Given the description of an element on the screen output the (x, y) to click on. 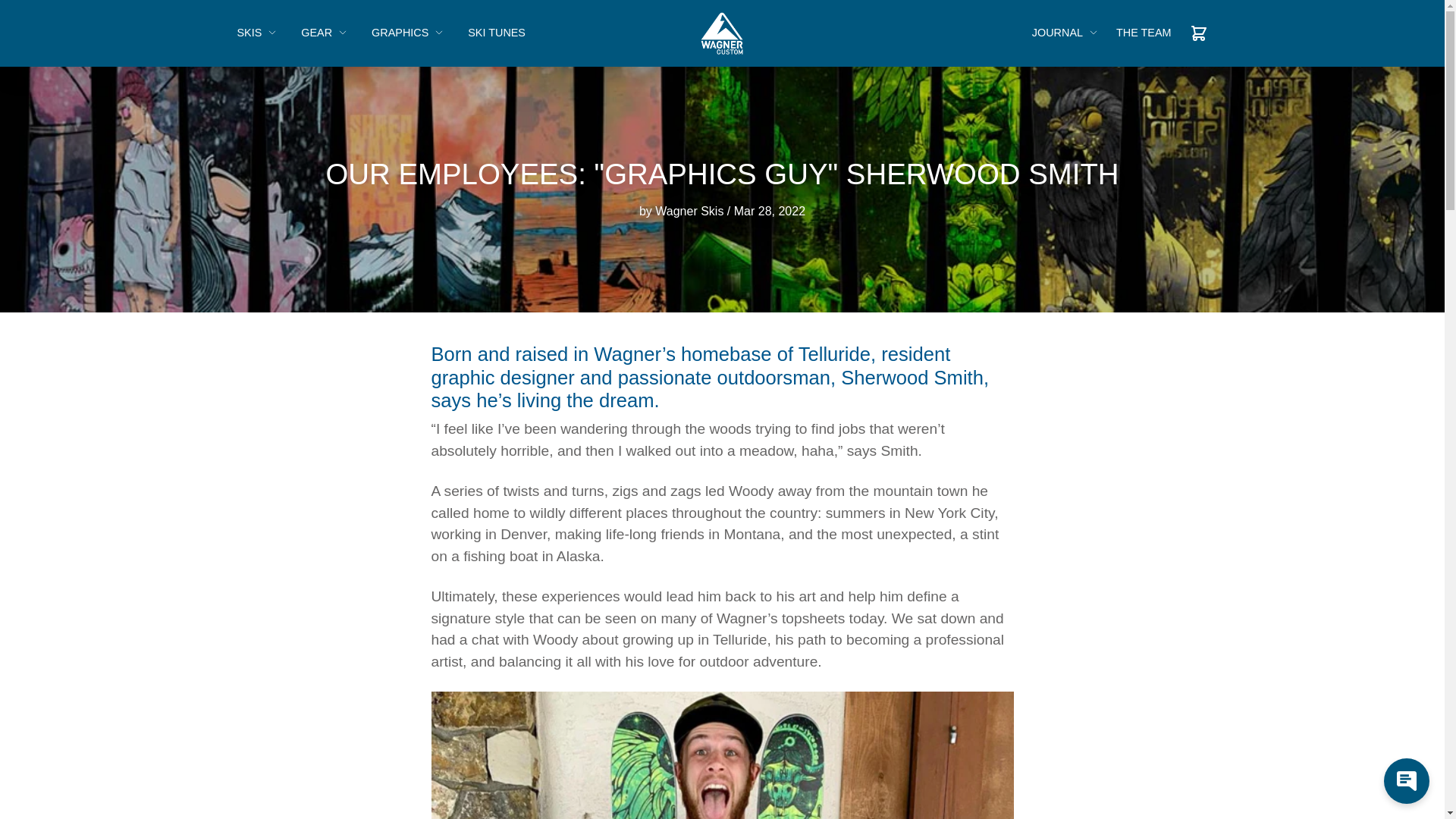
JOURNAL (1064, 33)
CART (1198, 33)
GRAPHICS (407, 33)
SKI TUNES (496, 33)
THE TEAM (1144, 33)
